Given the description of an element on the screen output the (x, y) to click on. 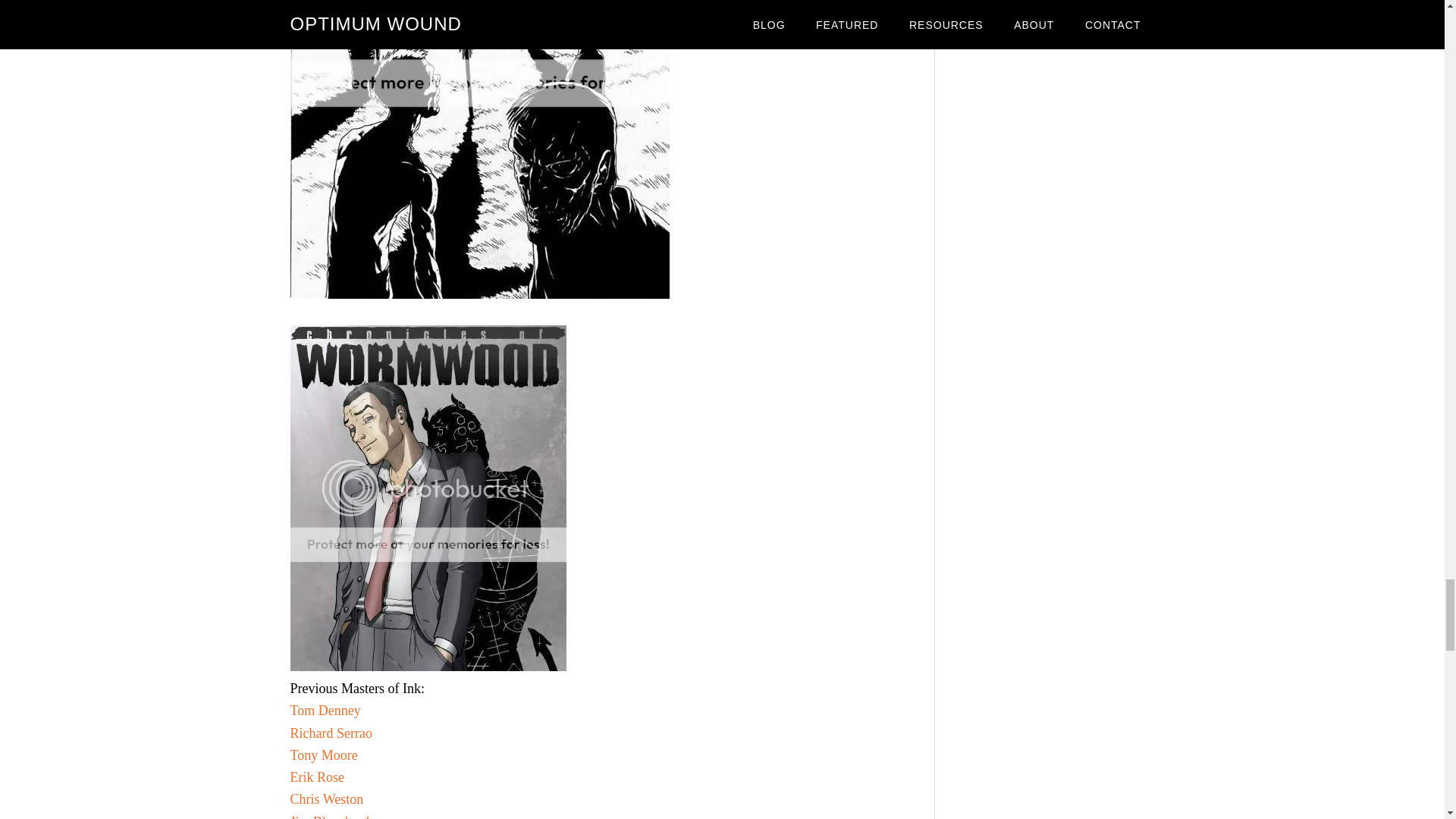
Erik Rose (316, 776)
Chris Weston (325, 798)
Tom Denney (324, 710)
Tony Moore (322, 754)
Tom Denney (324, 710)
Richard Serrao (330, 732)
Chris Weston (325, 798)
Jim Blanchard (328, 816)
Tony Moore (322, 754)
Jim Blanchard (328, 816)
Erik Rose (316, 776)
Richard Serrao (330, 732)
